Given the description of an element on the screen output the (x, y) to click on. 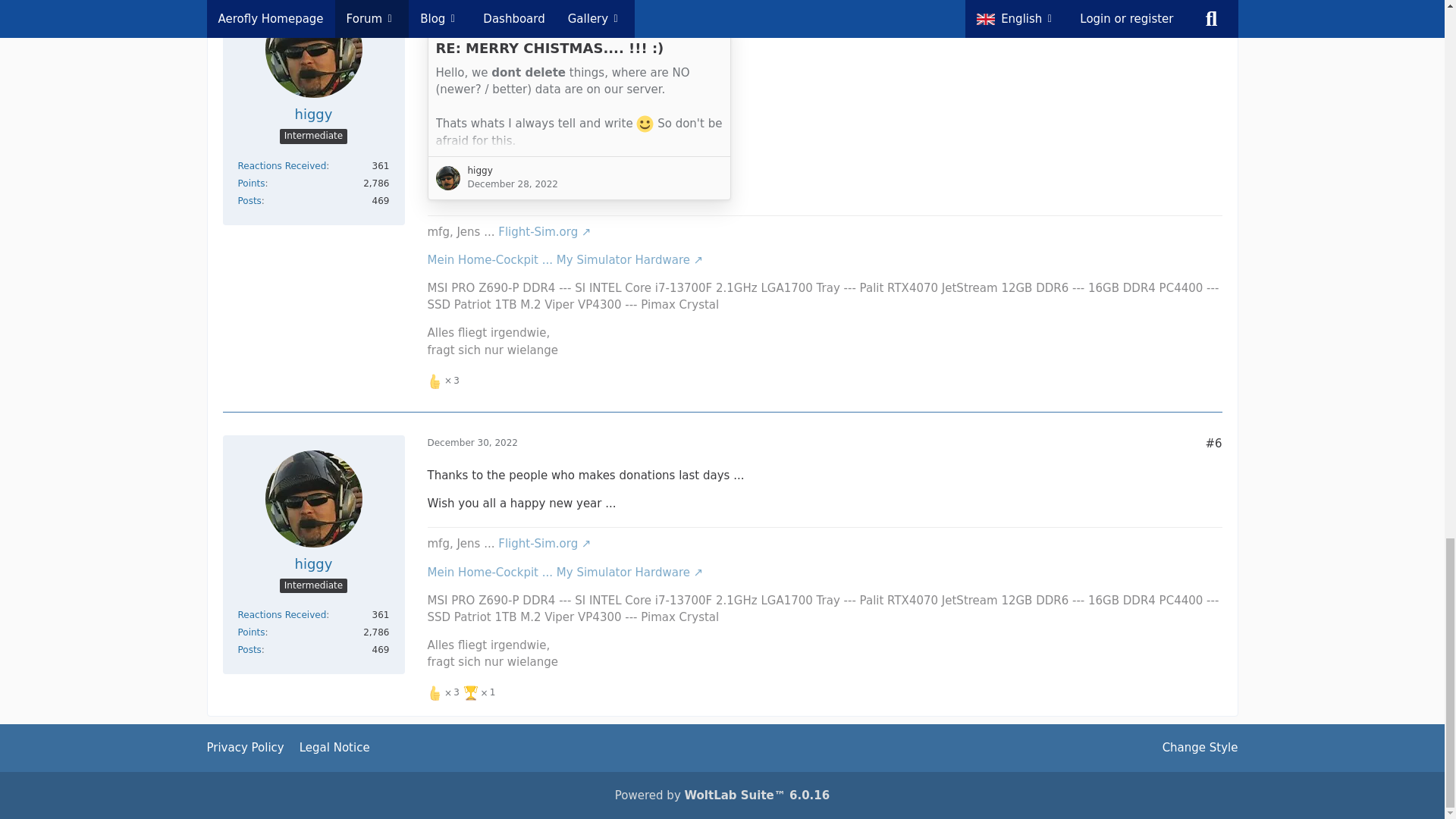
smile (644, 123)
